Given the description of an element on the screen output the (x, y) to click on. 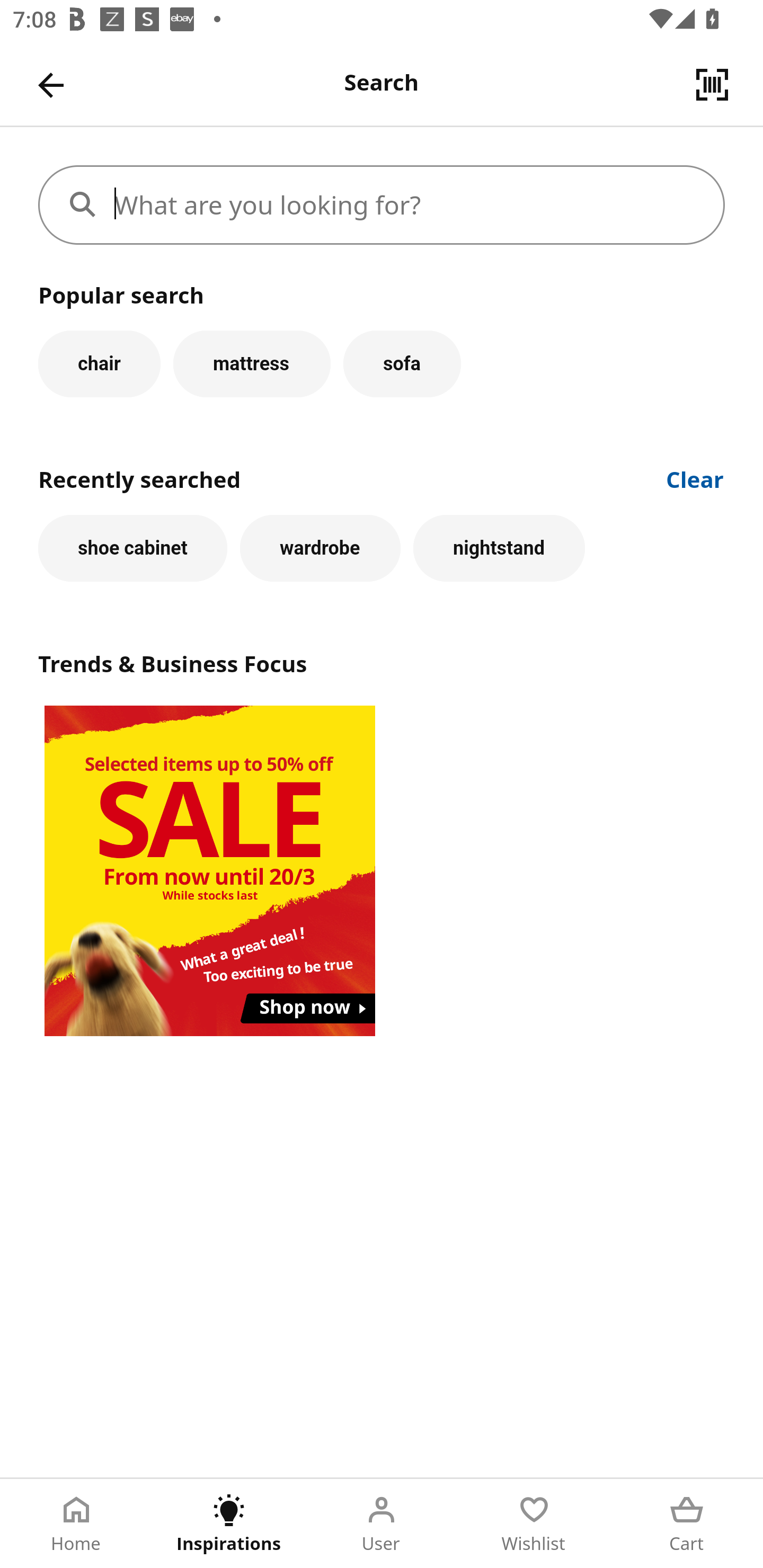
chair (99, 363)
mattress (251, 363)
sofa (401, 363)
Clear (695, 477)
shoe cabinet (132, 547)
wardrobe (320, 547)
nightstand (499, 547)
Home
Tab 1 of 5 (76, 1522)
Inspirations
Tab 2 of 5 (228, 1522)
User
Tab 3 of 5 (381, 1522)
Wishlist
Tab 4 of 5 (533, 1522)
Cart
Tab 5 of 5 (686, 1522)
